Given the description of an element on the screen output the (x, y) to click on. 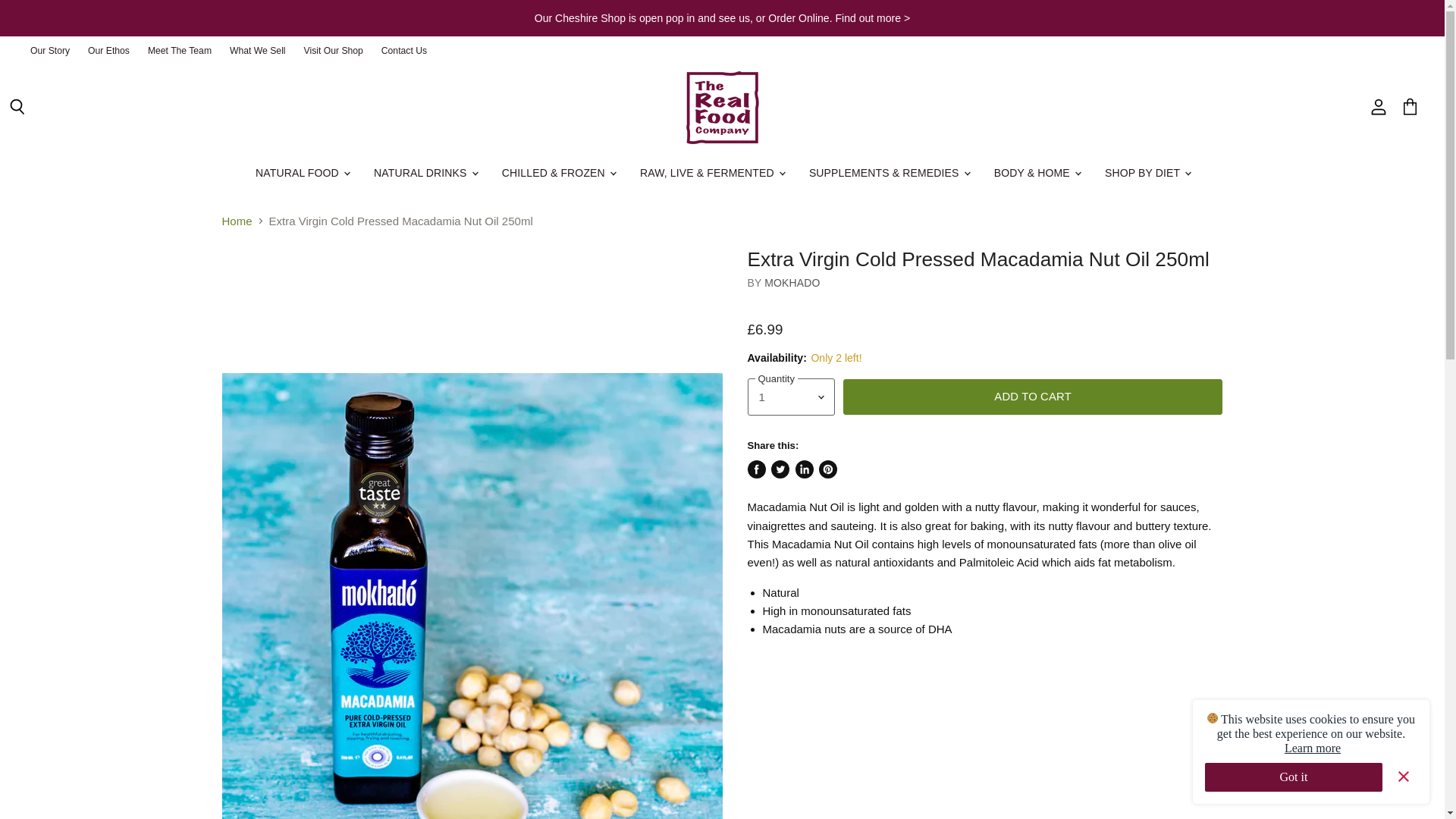
Our Ethos (108, 50)
Mokhado (791, 282)
Our Story (49, 50)
NATURAL FOOD (301, 173)
What We Sell (257, 50)
Meet The Team (179, 50)
Contact Us (403, 50)
View account (1377, 107)
Search (17, 107)
Visit Our Shop (333, 50)
